Given the description of an element on the screen output the (x, y) to click on. 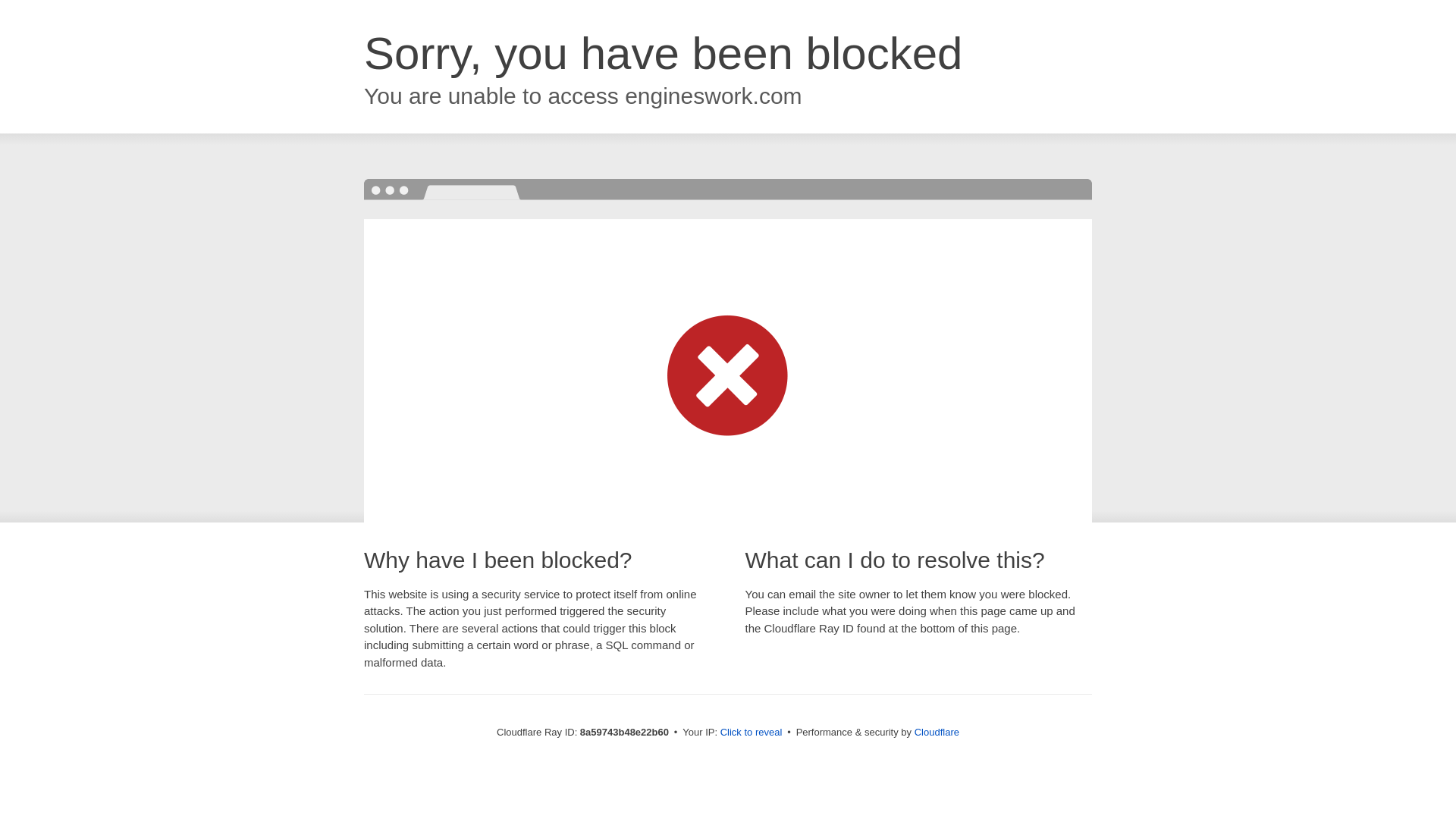
Click to reveal (751, 732)
Cloudflare (936, 731)
